Given the description of an element on the screen output the (x, y) to click on. 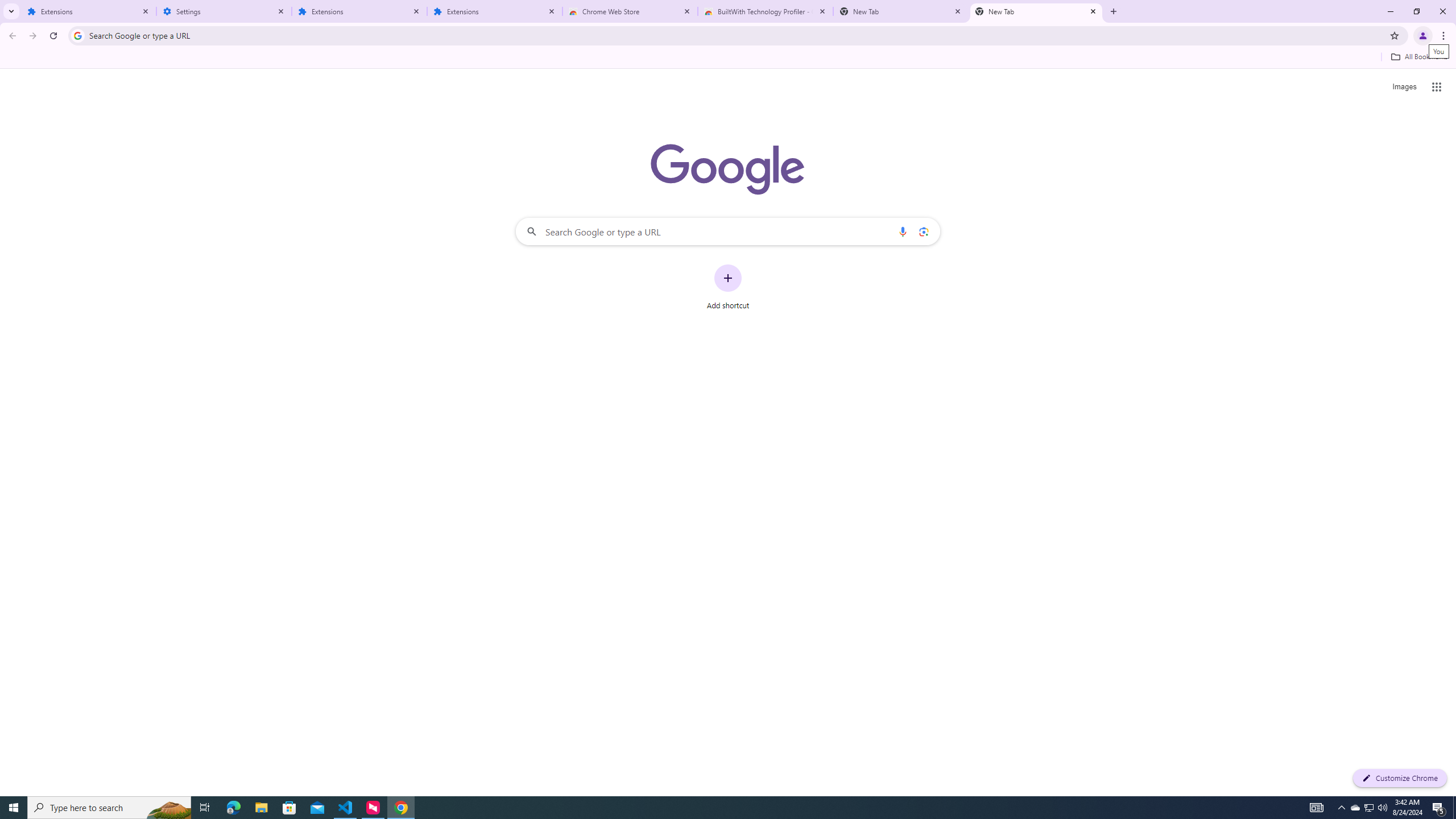
New Tab (1036, 11)
Chrome Web Store (630, 11)
New Tab (901, 11)
Extensions (88, 11)
